Given the description of an element on the screen output the (x, y) to click on. 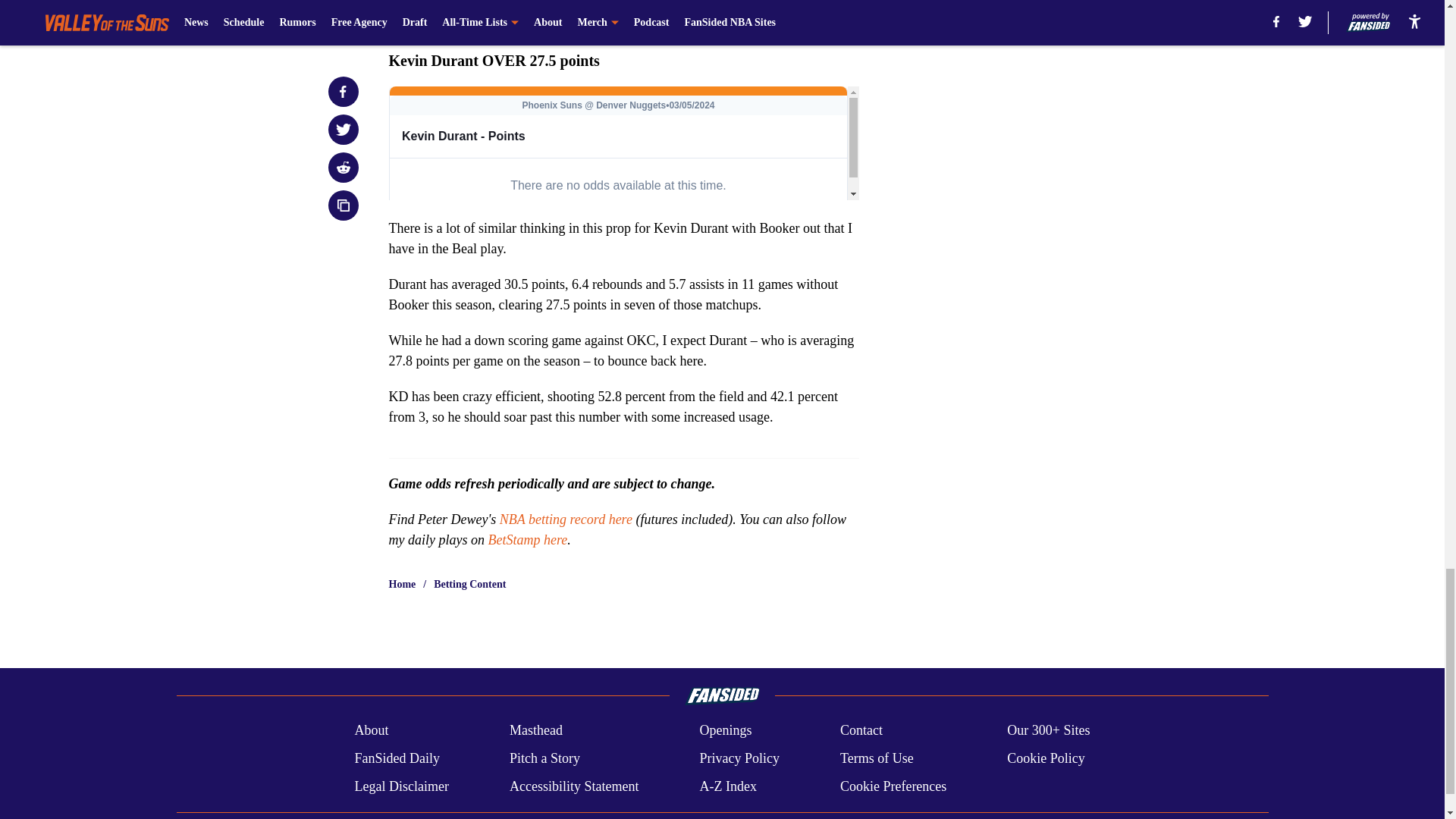
FanSided Daily (396, 758)
NBA betting record here (565, 519)
Home (401, 584)
Contact (861, 729)
Betting Content (469, 584)
Openings (724, 729)
Pitch a Story (544, 758)
About (370, 729)
BetStamp here (527, 539)
Masthead (535, 729)
